Given the description of an element on the screen output the (x, y) to click on. 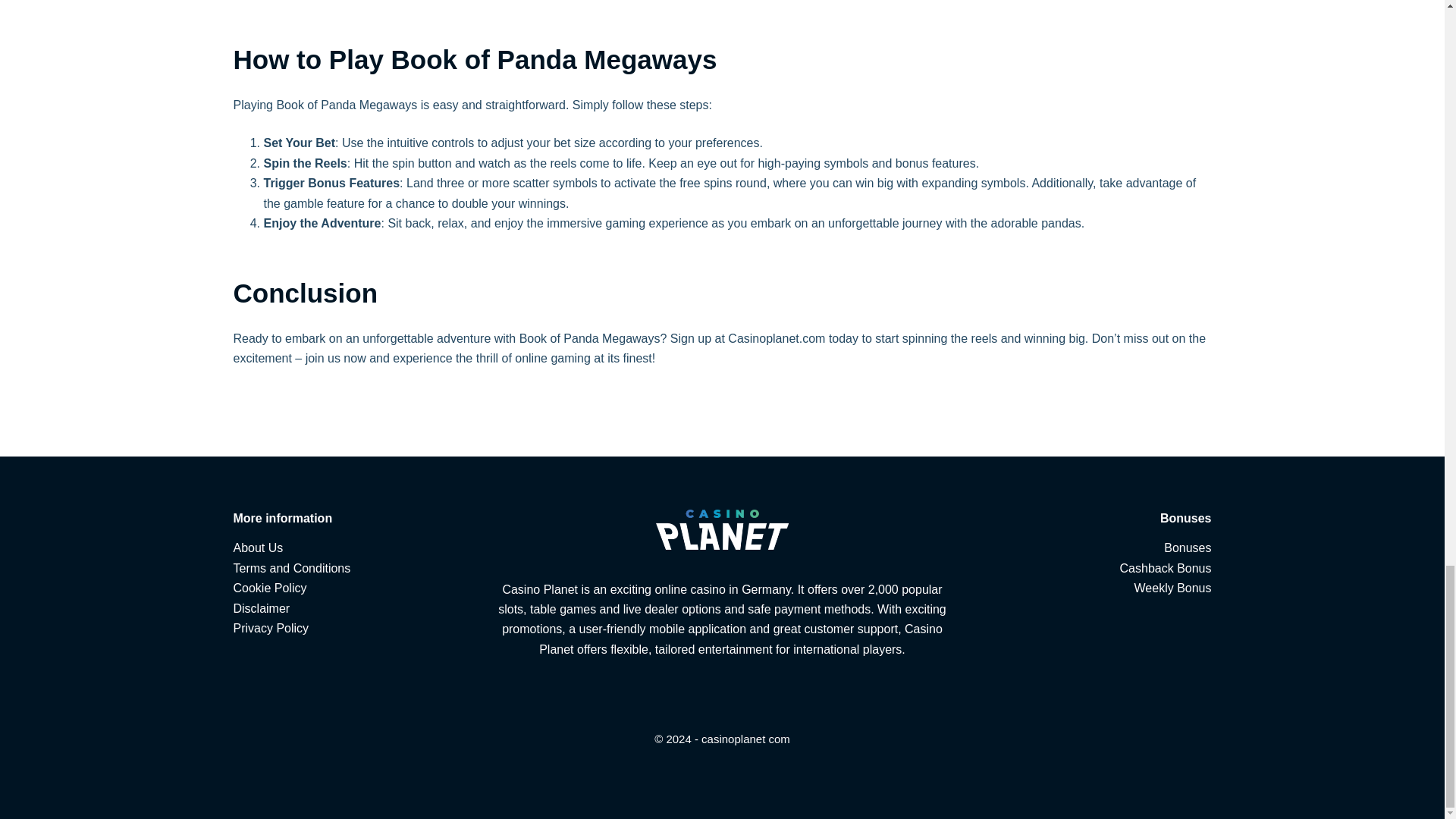
Cookie Policy (269, 587)
About Us (257, 547)
Terms and Conditions (291, 567)
